Given the description of an element on the screen output the (x, y) to click on. 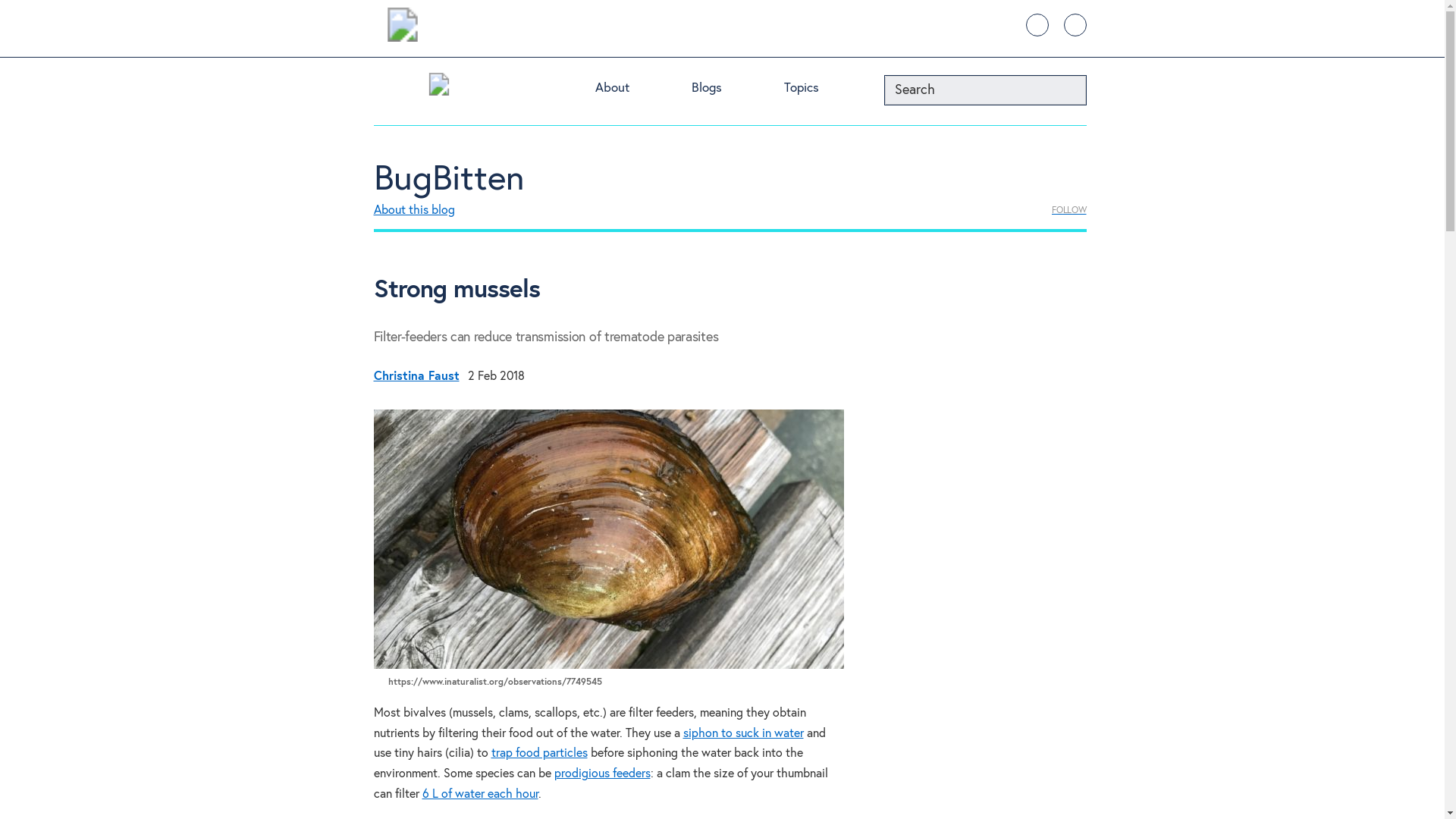
About this blog (413, 210)
BioMed Central on Facebook (1074, 24)
BioMed Central on Twitter (1036, 24)
Blogs (724, 91)
trap food particles (540, 753)
Visit BioMed Central (401, 28)
BugBitten (448, 179)
Visit Blog Network home (437, 87)
About (629, 91)
Christina Faust (415, 376)
siphon to suck in water (742, 733)
Topics (818, 91)
prodigious feeders (601, 773)
6 L of water each hour (479, 794)
BioMed Central on Facebook (1074, 24)
